Given the description of an element on the screen output the (x, y) to click on. 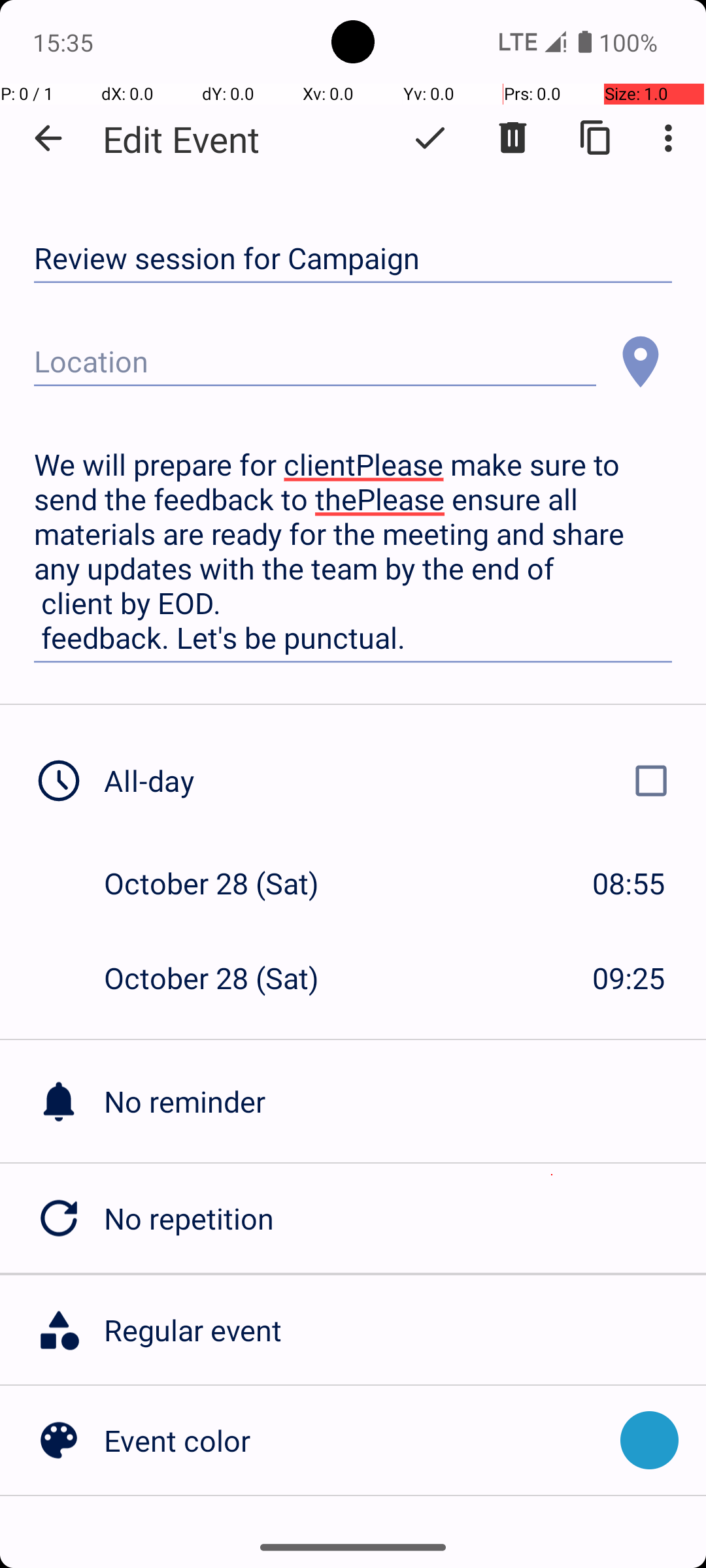
We will prepare for clientPlease make sure to send the feedback to thePlease ensure all materials are ready for the meeting and share any updates with the team by the end of
 client by EOD.
 feedback. Let's be punctual. Element type: android.widget.EditText (352, 551)
October 28 (Sat) Element type: android.widget.TextView (224, 882)
08:55 Element type: android.widget.TextView (628, 882)
09:25 Element type: android.widget.TextView (628, 977)
